Given the description of an element on the screen output the (x, y) to click on. 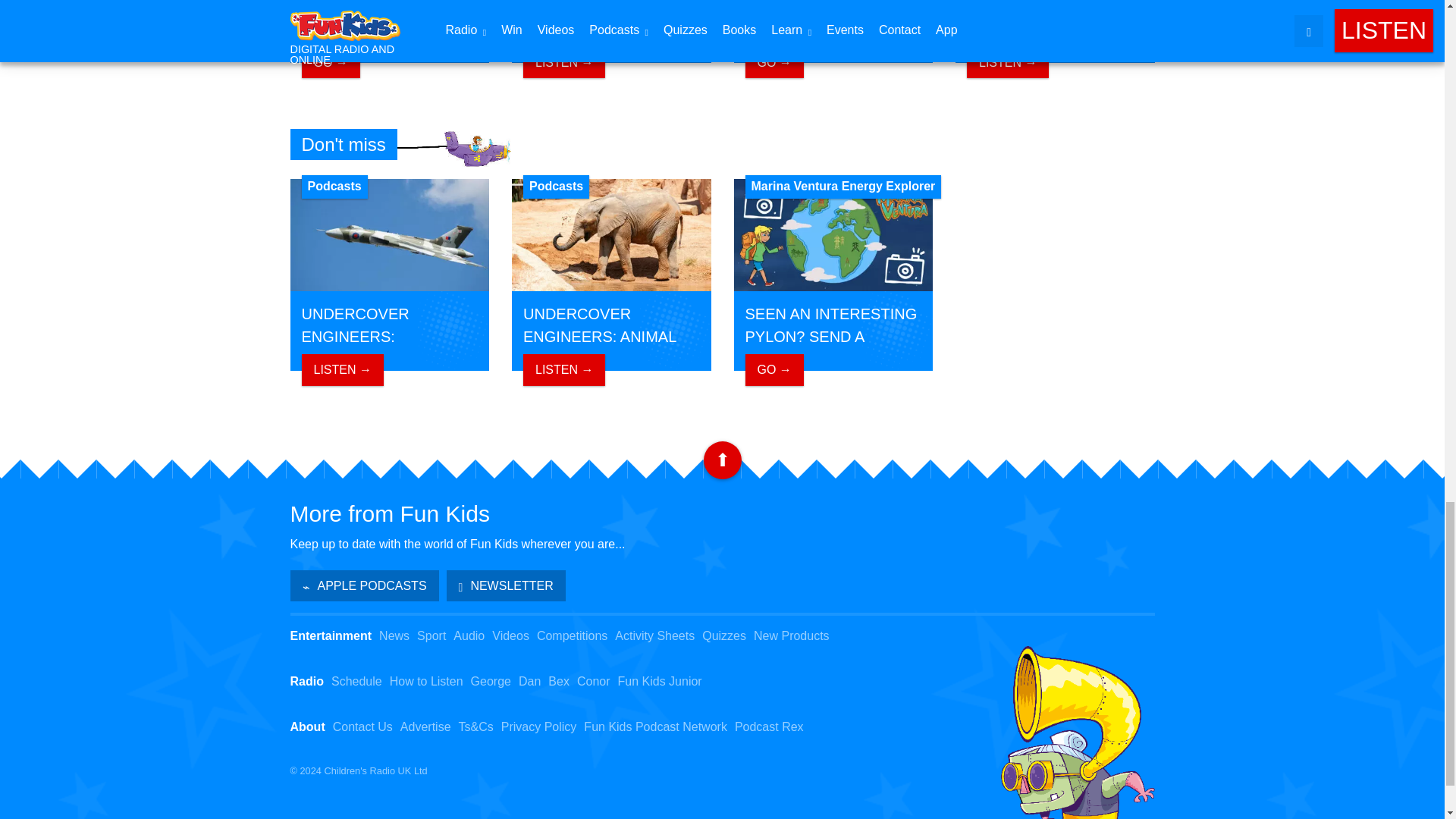
Back to top (722, 460)
